Given the description of an element on the screen output the (x, y) to click on. 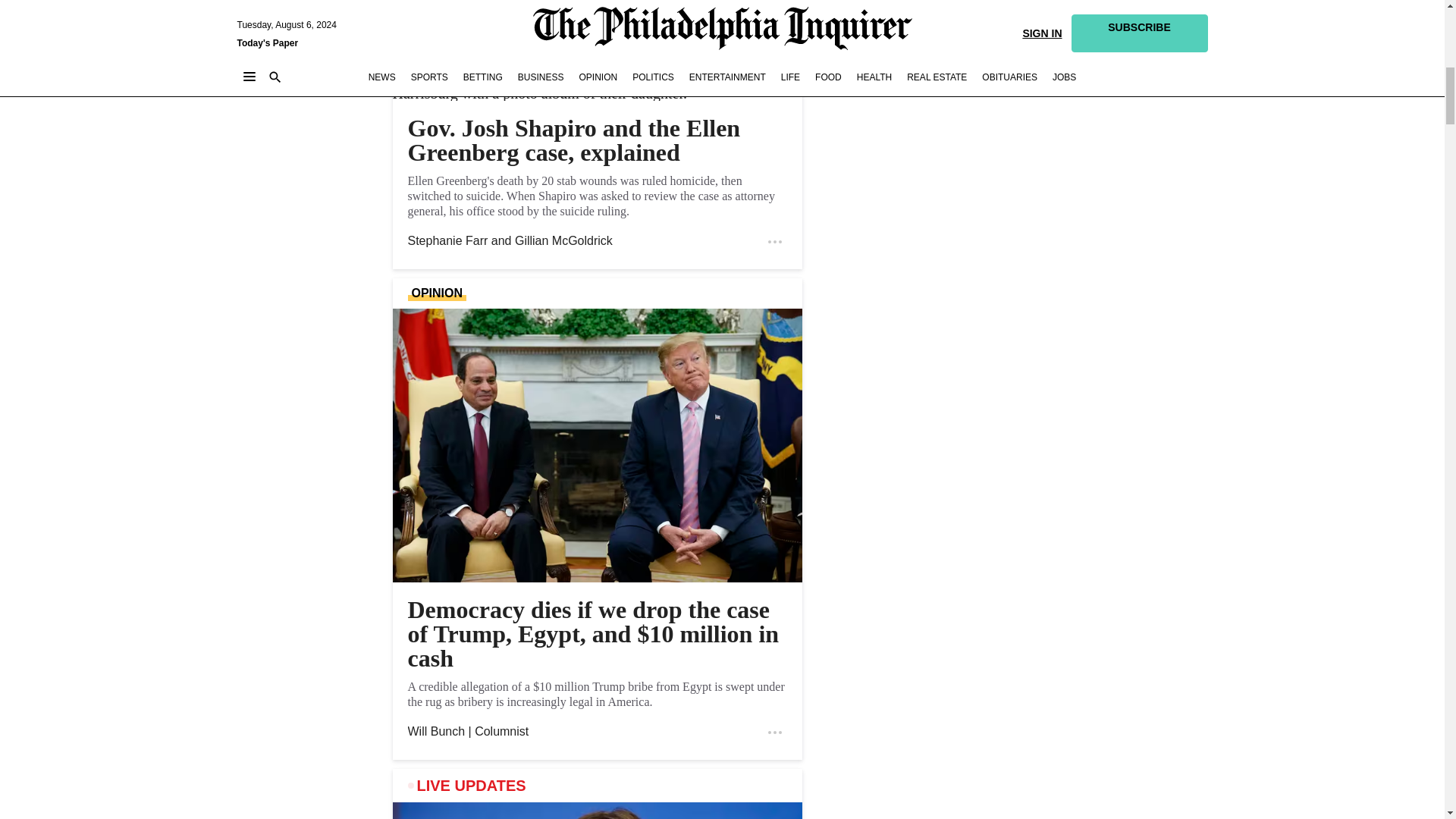
Opinion (436, 293)
Elections (451, 53)
ELECTIONS (451, 53)
